Given the description of an element on the screen output the (x, y) to click on. 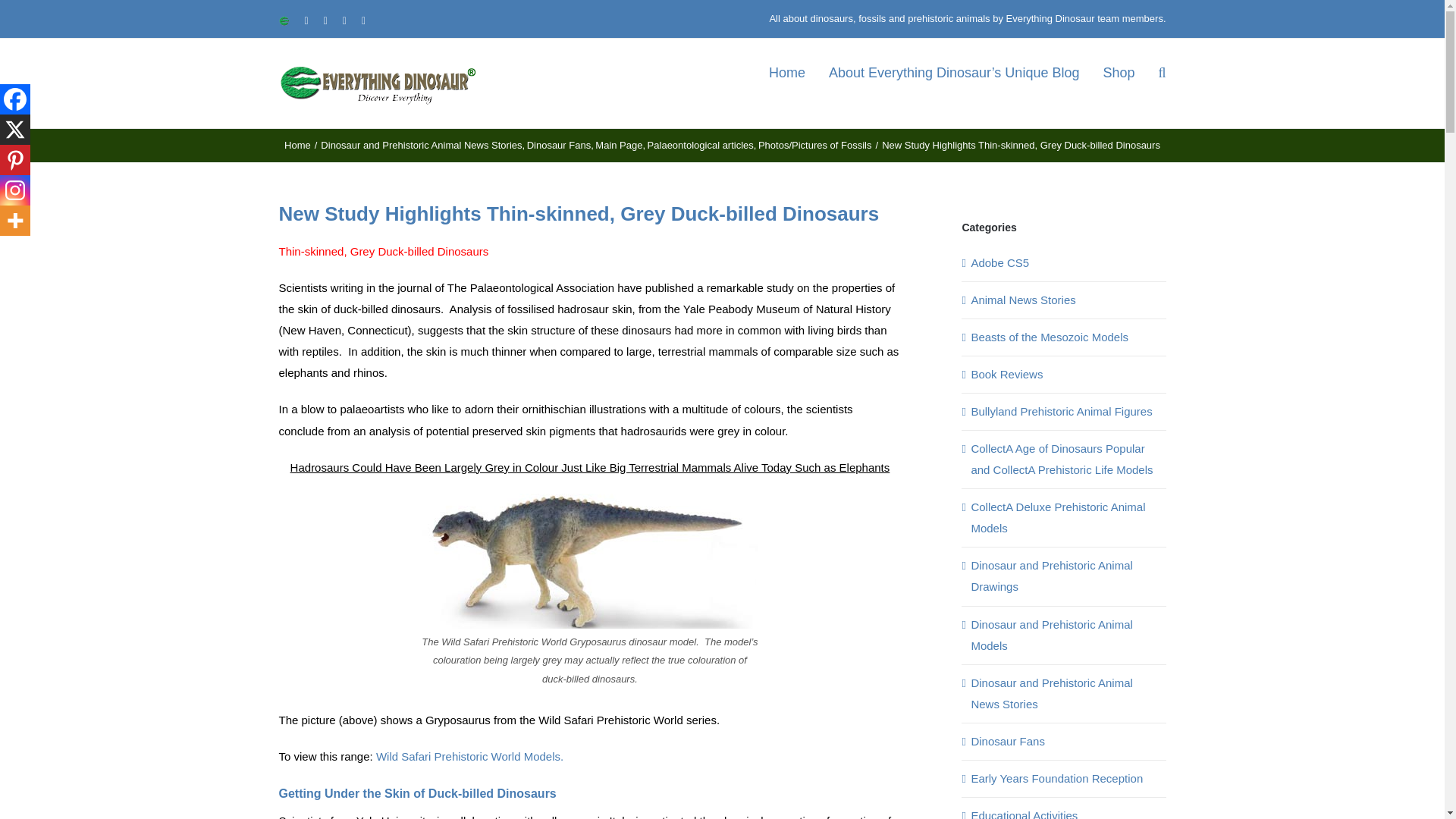
Pinterest (15, 159)
Instagram (15, 190)
Website (284, 20)
Website (284, 20)
Facebook (15, 99)
Home (297, 144)
Main Page (618, 144)
Dinosaur and Prehistoric Animal News Stories (420, 144)
Palaeontological articles (700, 144)
Wild Safari Prehistoric World Models. (469, 756)
